Given the description of an element on the screen output the (x, y) to click on. 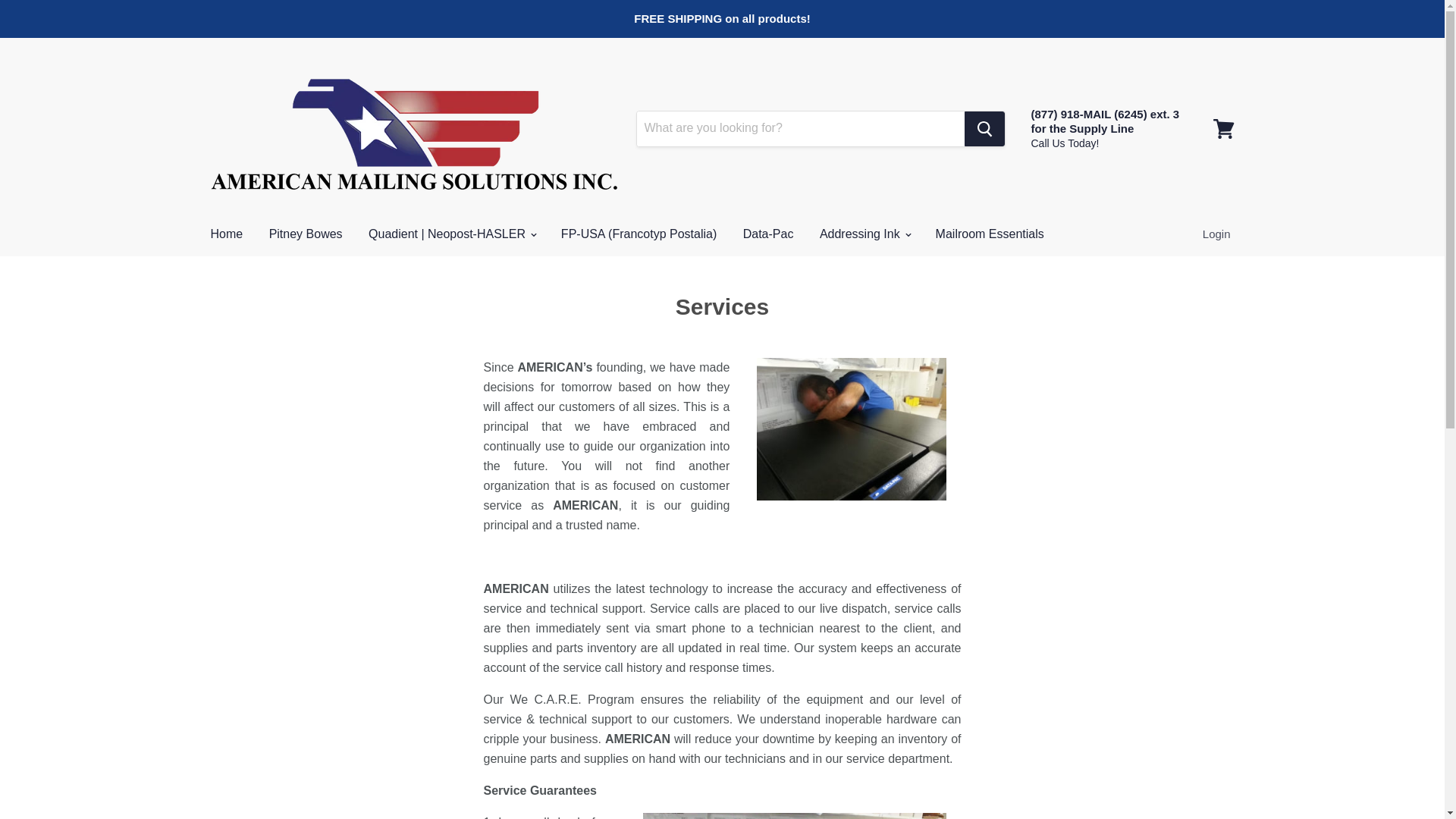
View cart (1223, 127)
Pitney Bowes (305, 234)
Home (225, 234)
Addressing Ink (864, 234)
Data-Pac (768, 234)
Login (1216, 234)
Mailroom Essentials (989, 234)
